Given the description of an element on the screen output the (x, y) to click on. 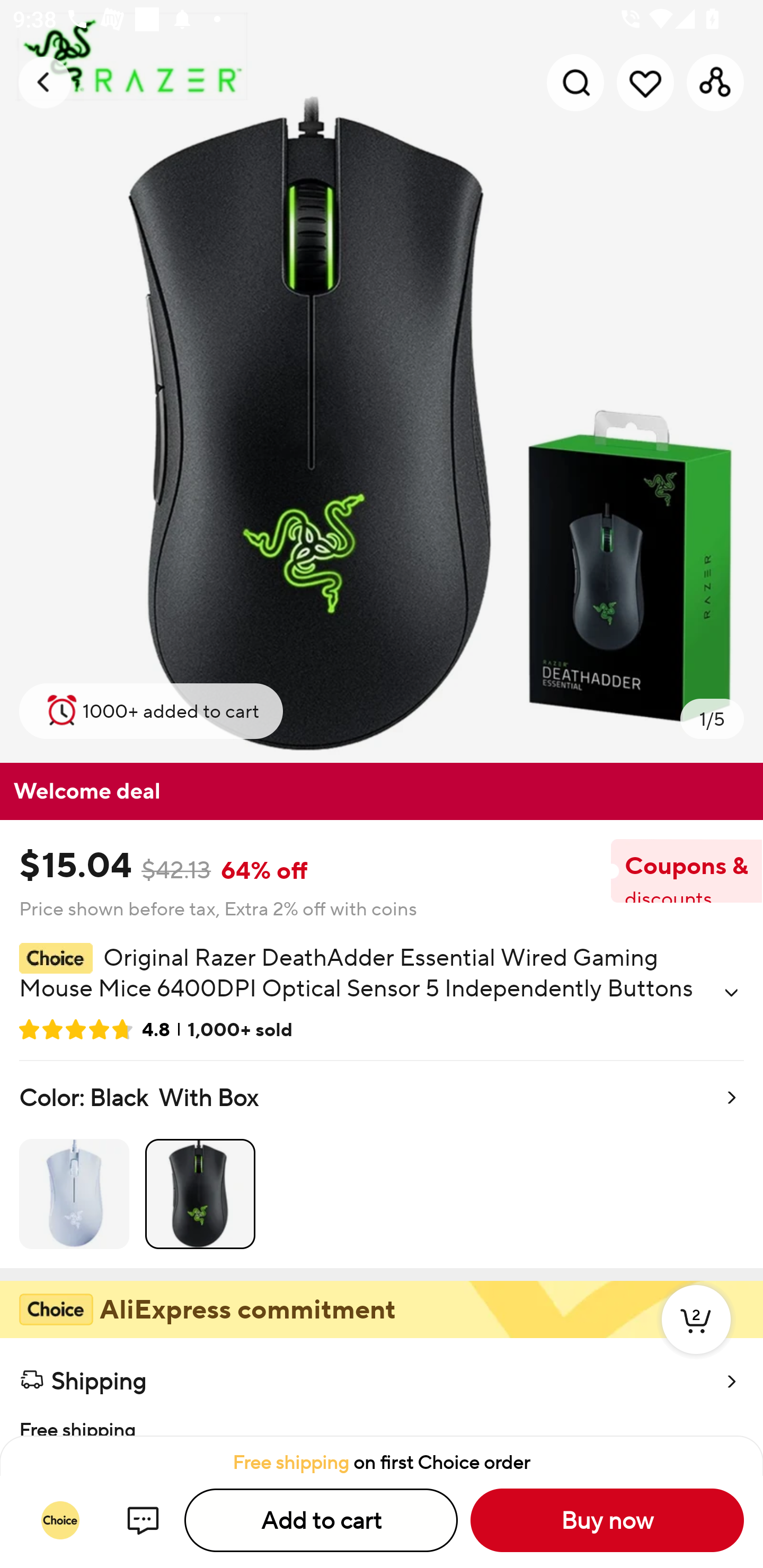
Navigate up (44, 82)
 (730, 992)
Color: Black  With Box  (381, 1164)
2 (695, 1338)
Shipping  Free shipping  (381, 1386)
Free shipping  (381, 1418)
Add to cart (320, 1520)
Buy now (606, 1520)
